Given the description of an element on the screen output the (x, y) to click on. 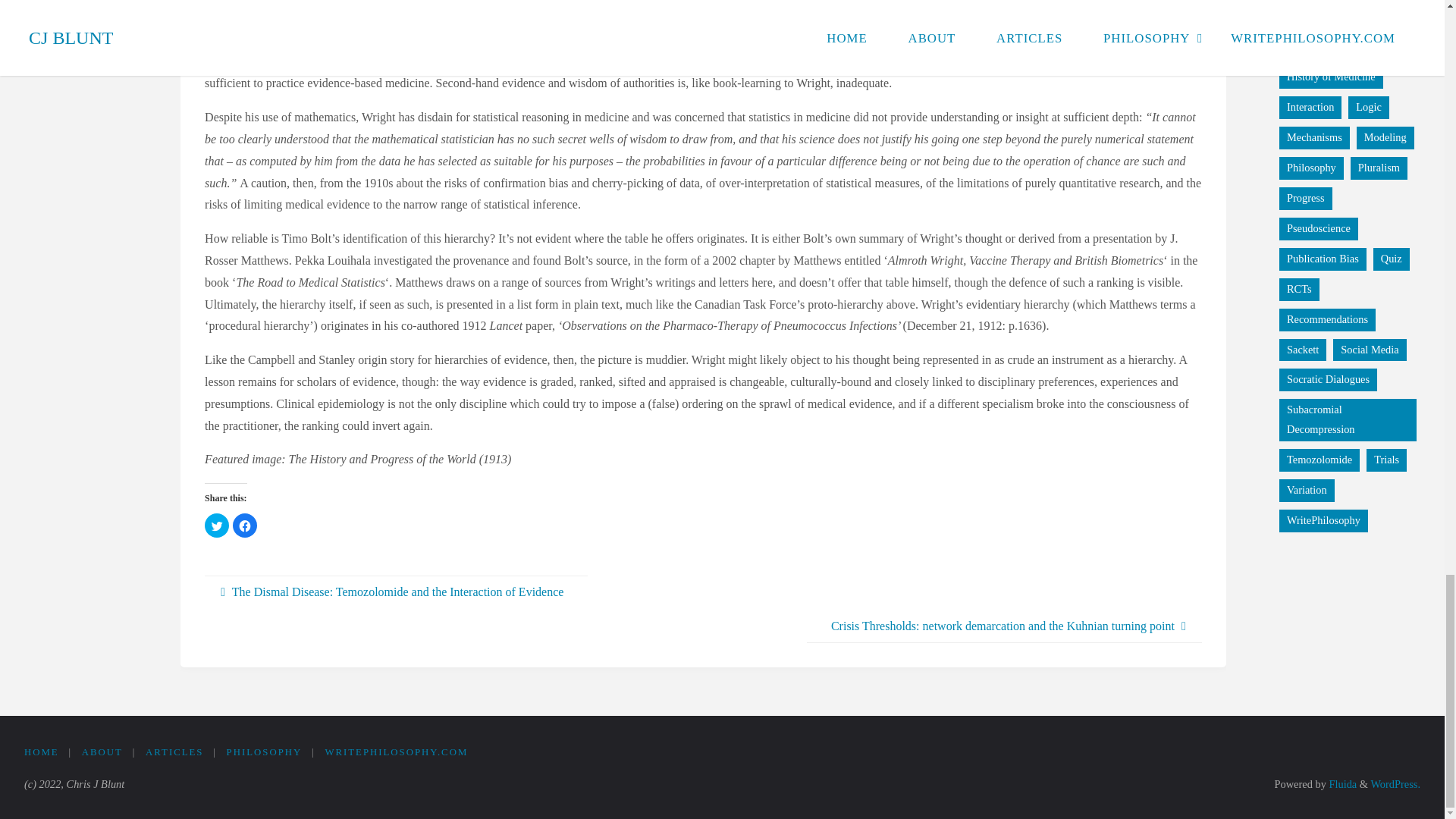
Click to share on Twitter (216, 525)
Fluida WordPress Theme by Cryout Creations (1341, 784)
Semantic Personal Publishing Platform (1395, 784)
Click to share on Facebook (244, 525)
